Given the description of an element on the screen output the (x, y) to click on. 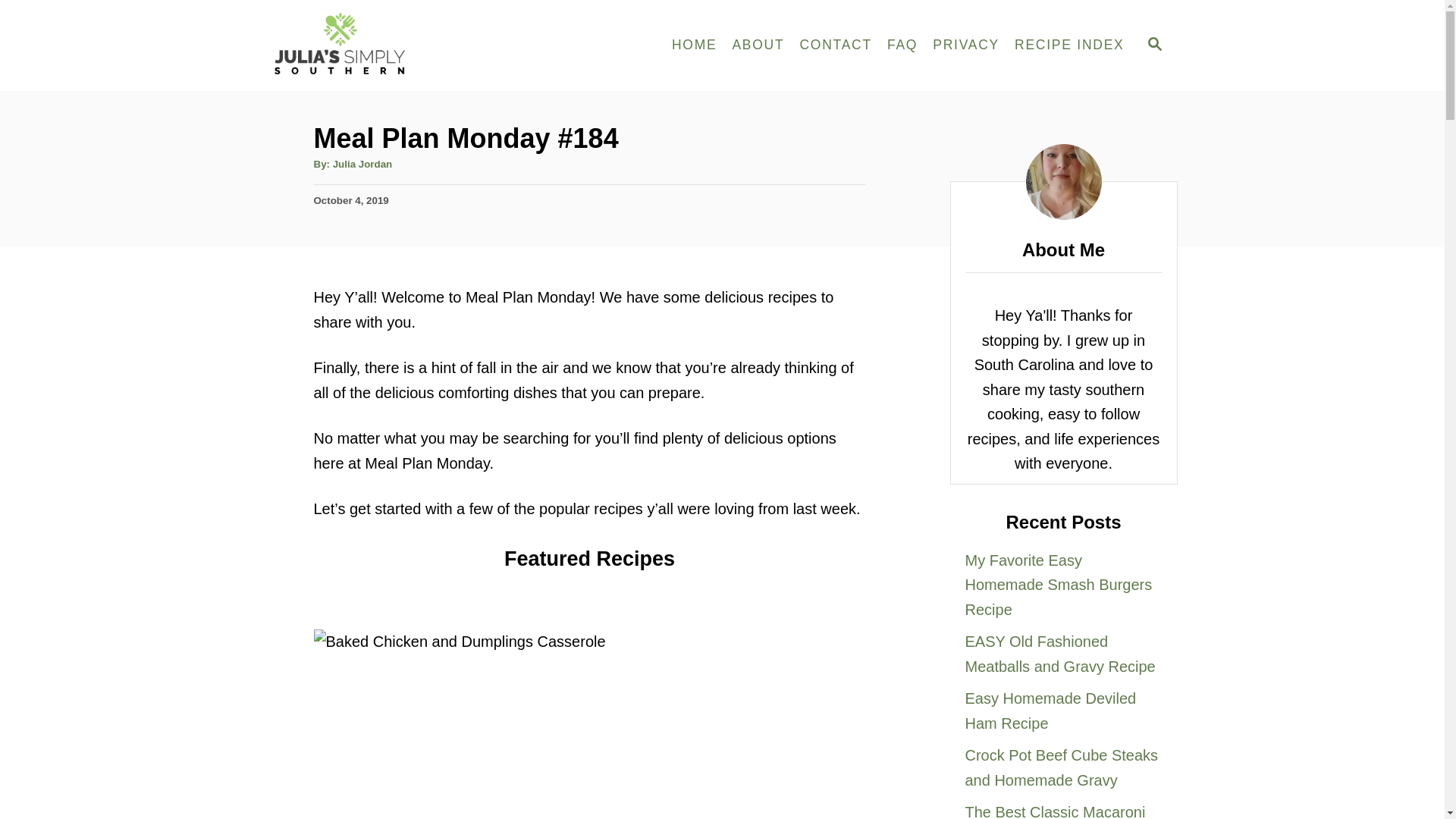
Julia Jordan (363, 163)
Julias Simply Southern (403, 45)
SEARCH (1153, 45)
PRIVACY (965, 45)
HOME (694, 45)
CONTACT (835, 45)
RECIPE INDEX (1069, 45)
ABOUT (757, 45)
FAQ (901, 45)
